Given the description of an element on the screen output the (x, y) to click on. 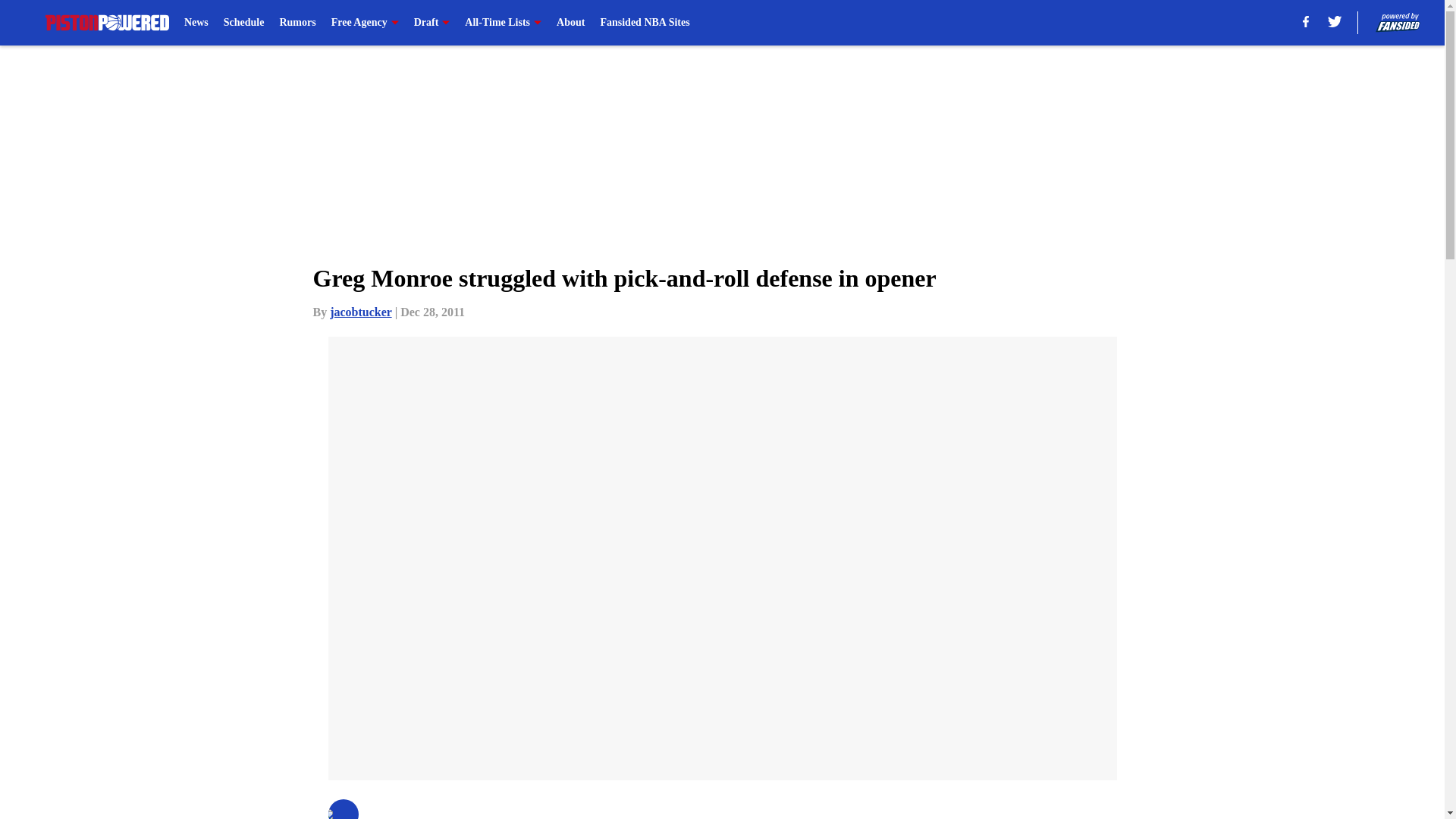
Draft (431, 22)
jacobtucker (360, 311)
All-Time Lists (502, 22)
About (570, 22)
Rumors (297, 22)
Schedule (244, 22)
News (196, 22)
Fansided NBA Sites (643, 22)
Free Agency (364, 22)
